Given the description of an element on the screen output the (x, y) to click on. 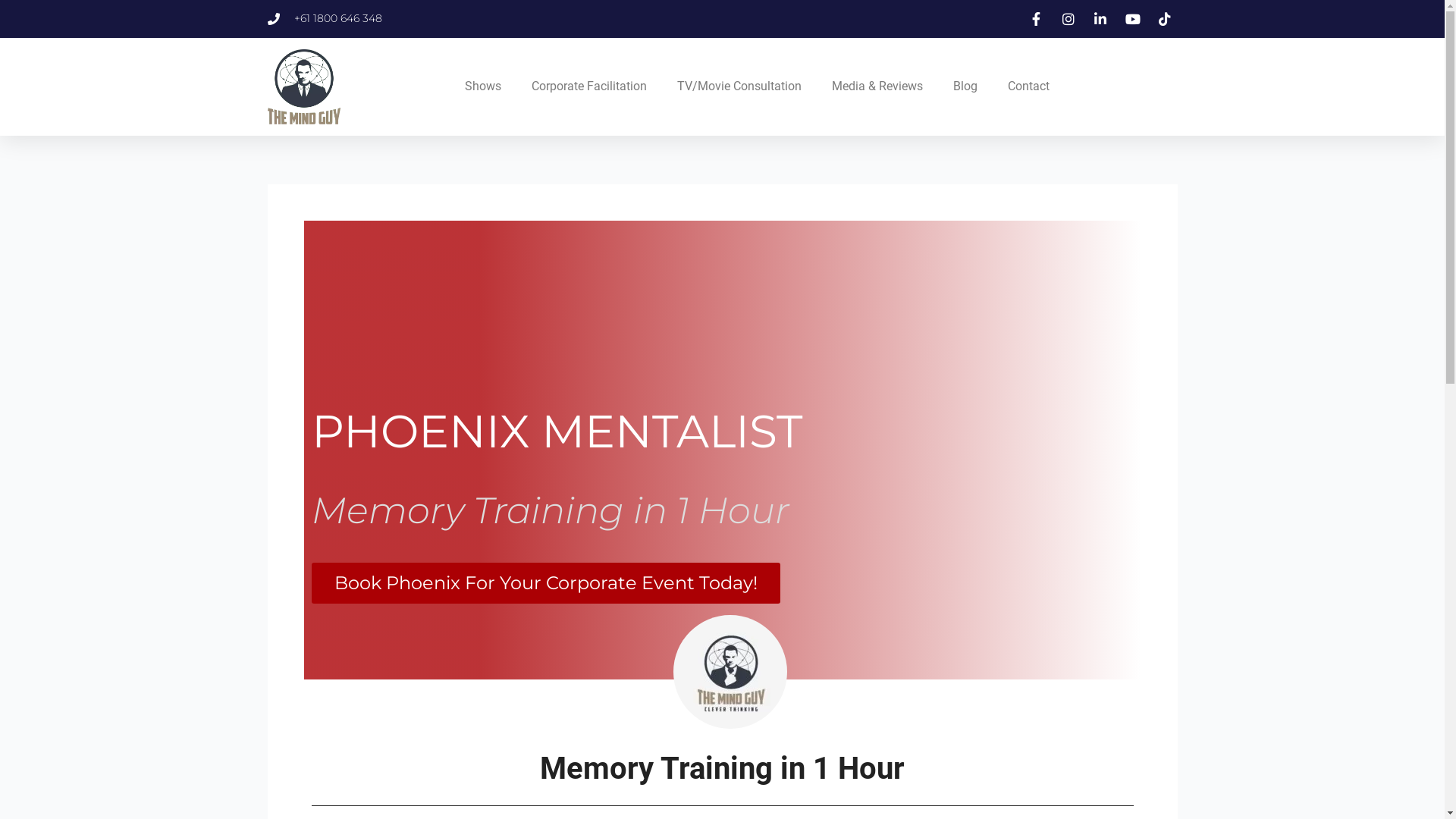
Blog Element type: text (964, 86)
Shows Element type: text (481, 86)
Contact Element type: text (1027, 86)
Media & Reviews Element type: text (876, 86)
+61 1800 646 348 Element type: text (323, 18)
TV/Movie Consultation Element type: text (738, 86)
Corporate Facilitation Element type: text (588, 86)
Book Phoenix For Your Corporate Event Today! Element type: text (544, 582)
